Given the description of an element on the screen output the (x, y) to click on. 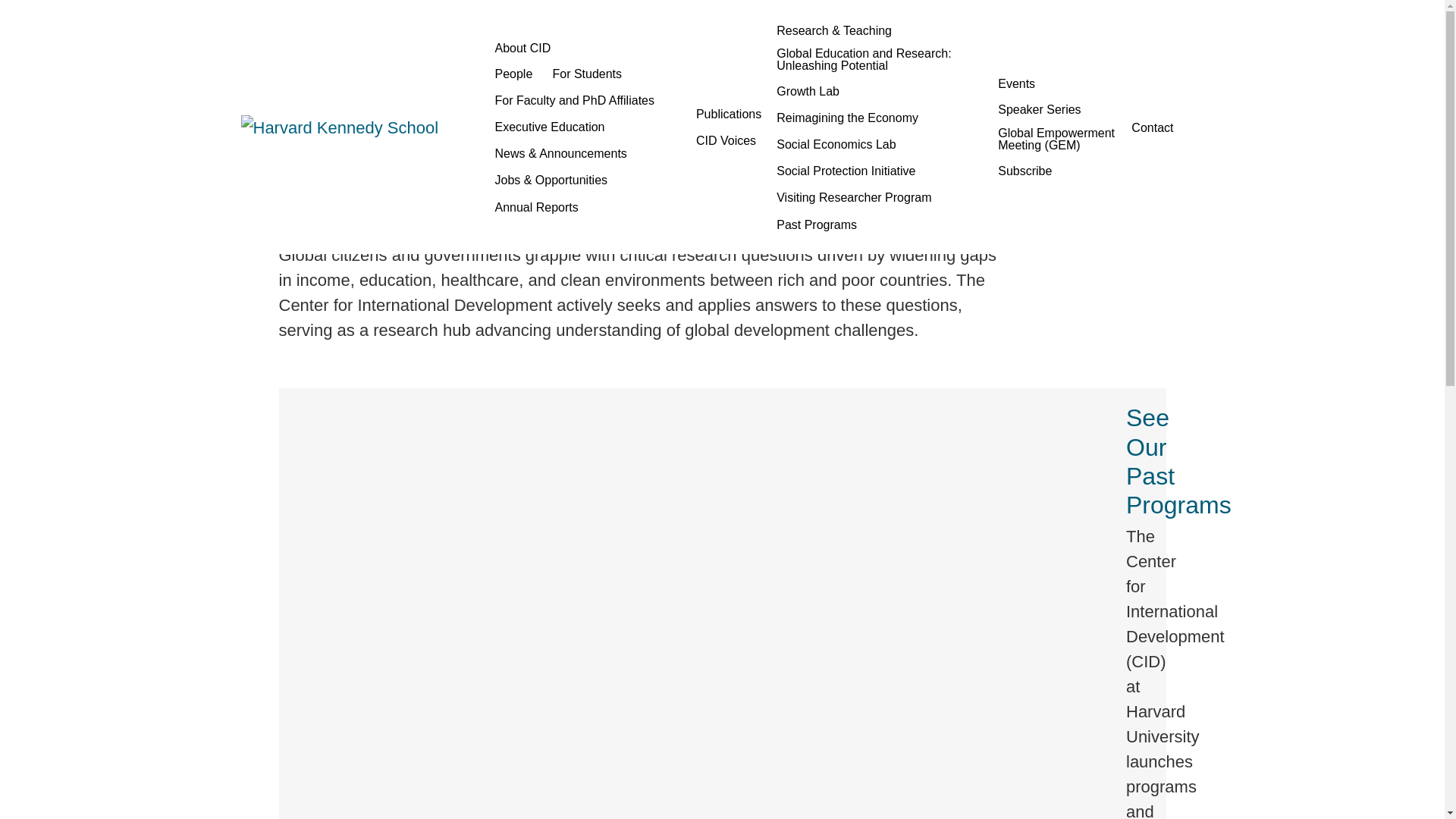
Harvard Kennedy School (352, 127)
About CID (586, 47)
For Students (586, 74)
For Faculty and PhD Affiliates (573, 100)
Annual Reports (535, 207)
Publications (728, 114)
CID Voices (725, 140)
Executive Education (548, 127)
People (513, 74)
